Given the description of an element on the screen output the (x, y) to click on. 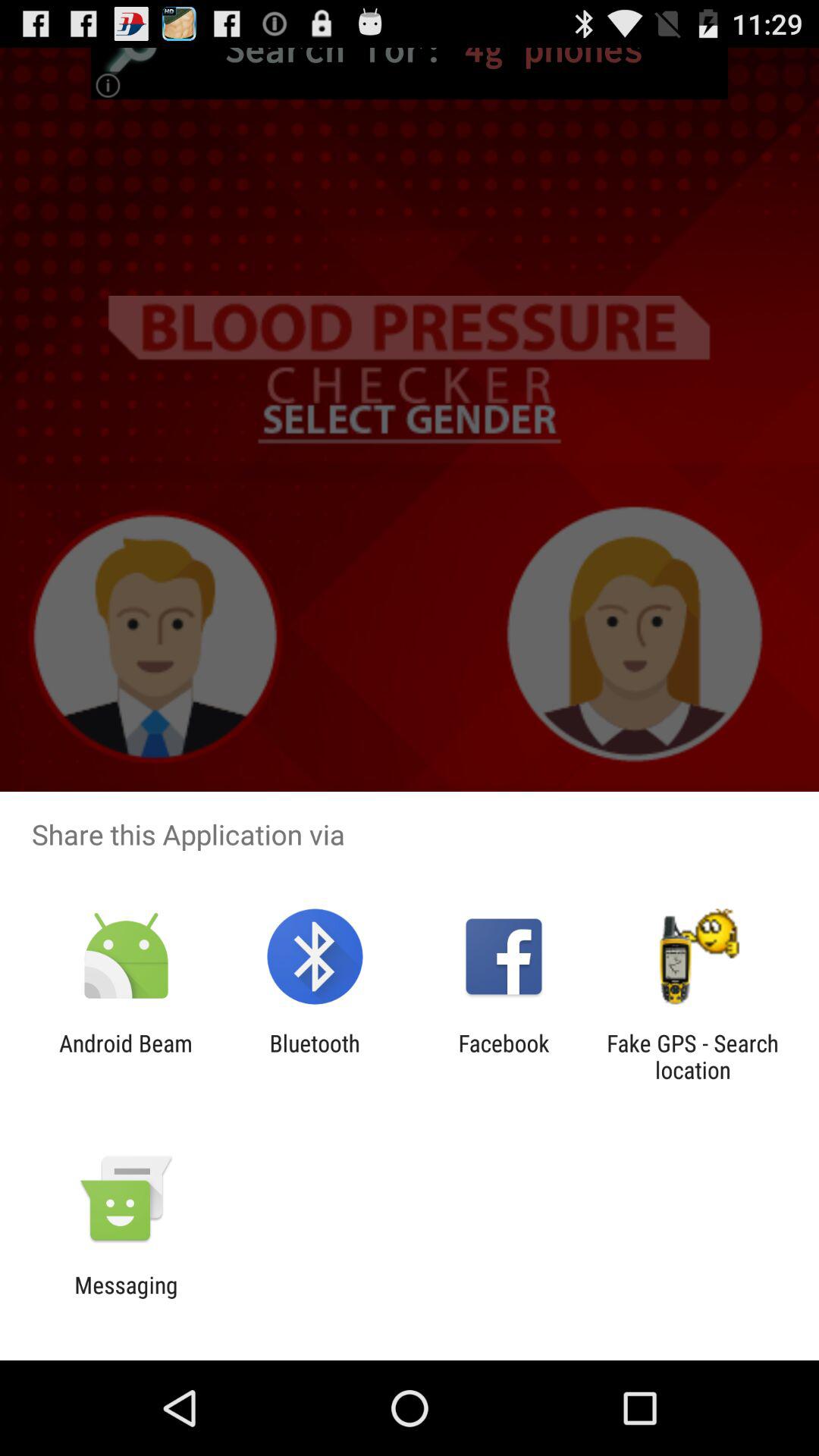
click the app next to the bluetooth (503, 1056)
